Given the description of an element on the screen output the (x, y) to click on. 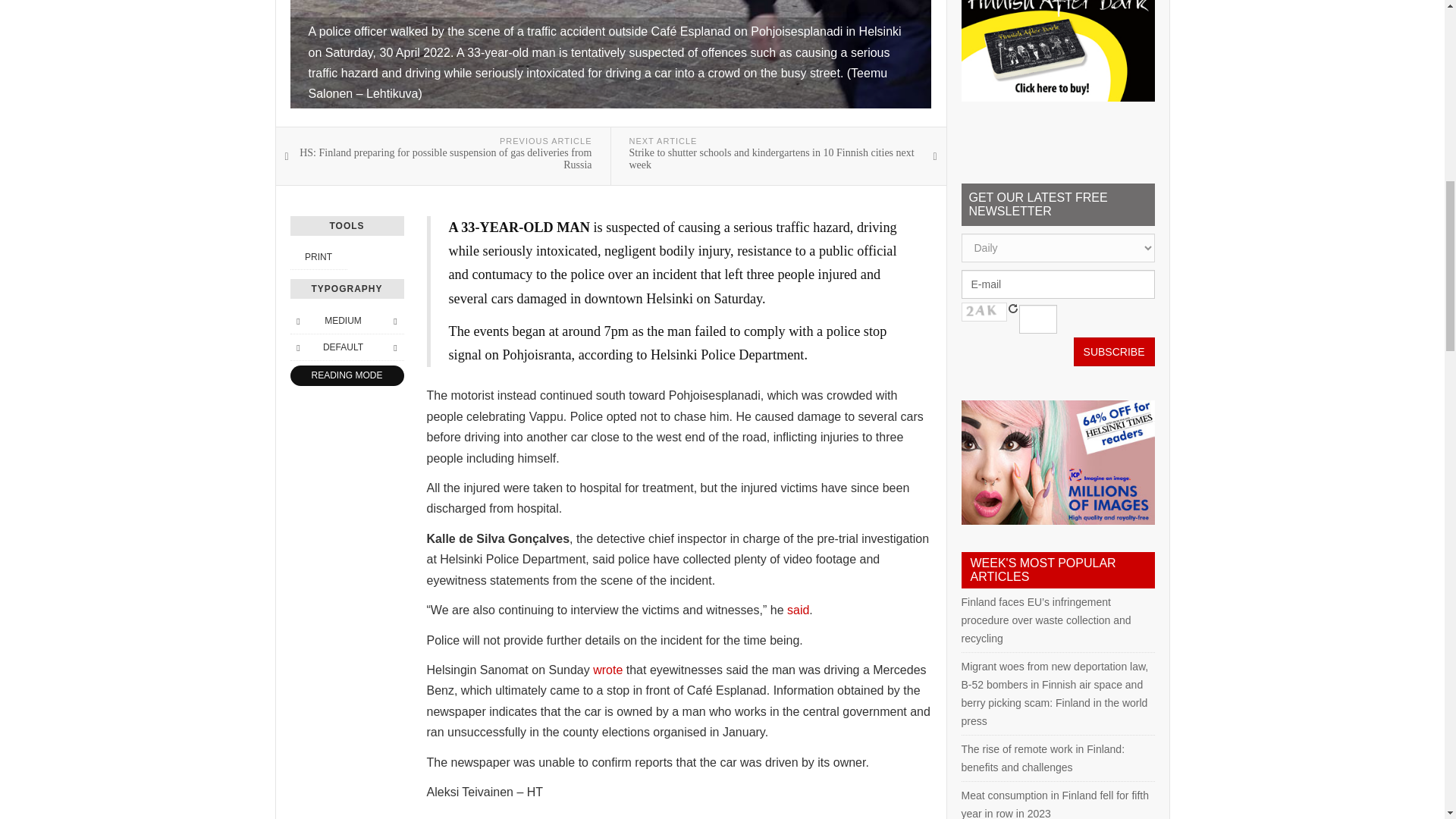
Print (317, 256)
Reading Mode (346, 375)
Previous Font Style (297, 347)
Bigger Font (395, 320)
E-mail (1057, 284)
Next Font Style (395, 347)
Smaller Font (297, 320)
The captcha is invalid, please try again (1038, 318)
The captcha is invalid, please try again (983, 311)
Subscribe (1114, 351)
E-mail (1057, 284)
After-dark (1057, 50)
ICPonline (1057, 462)
